Given the description of an element on the screen output the (x, y) to click on. 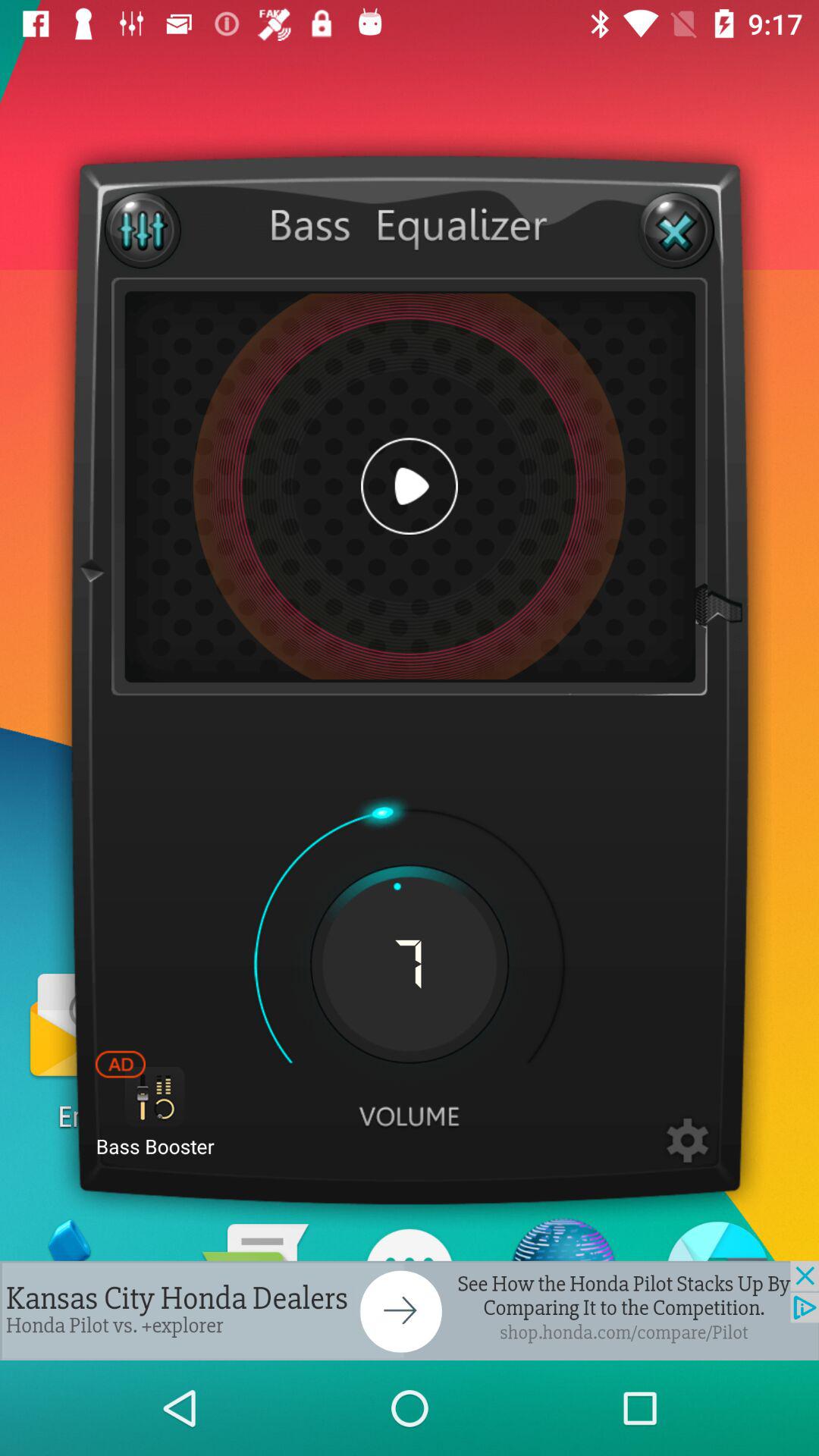
close box (676, 230)
